Given the description of an element on the screen output the (x, y) to click on. 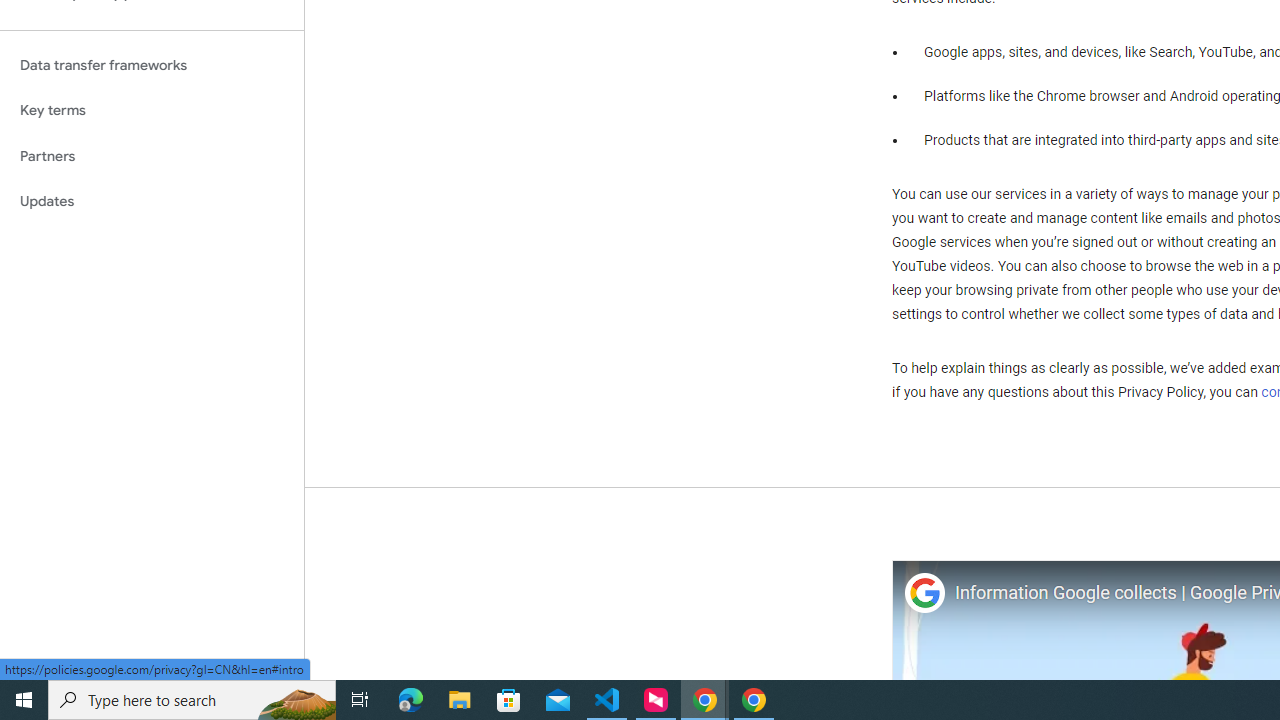
Key terms (152, 110)
Updates (152, 201)
Partners (152, 156)
Photo image of Google (924, 593)
Data transfer frameworks (152, 65)
